Given the description of an element on the screen output the (x, y) to click on. 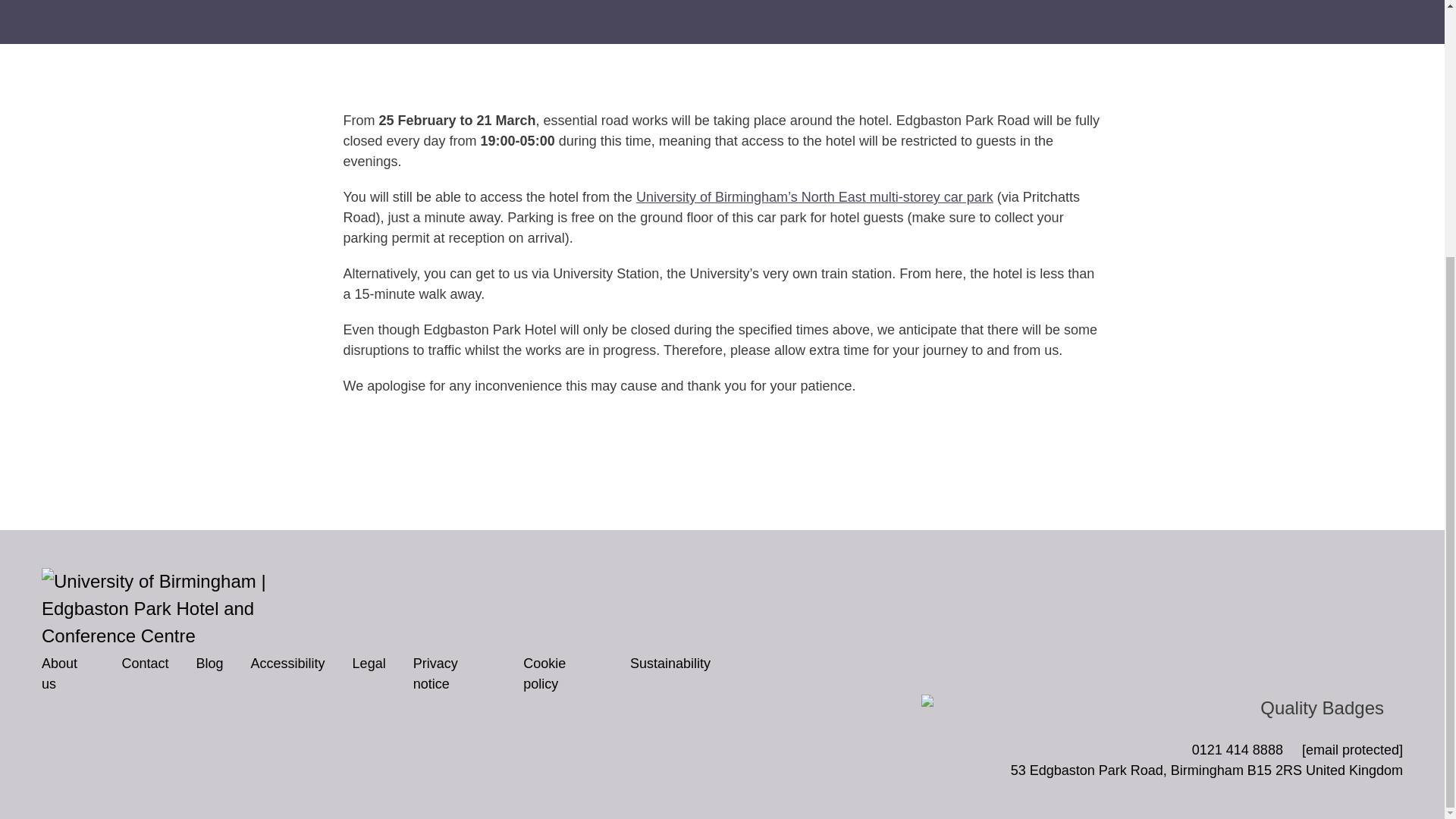
Privacy notice (454, 673)
Sustainability (670, 663)
Blog (210, 663)
About us (68, 673)
Cookie policy (562, 673)
Contact (144, 663)
Accessibility (287, 663)
0121 414 8888 (1237, 749)
Legal (368, 663)
